Given the description of an element on the screen output the (x, y) to click on. 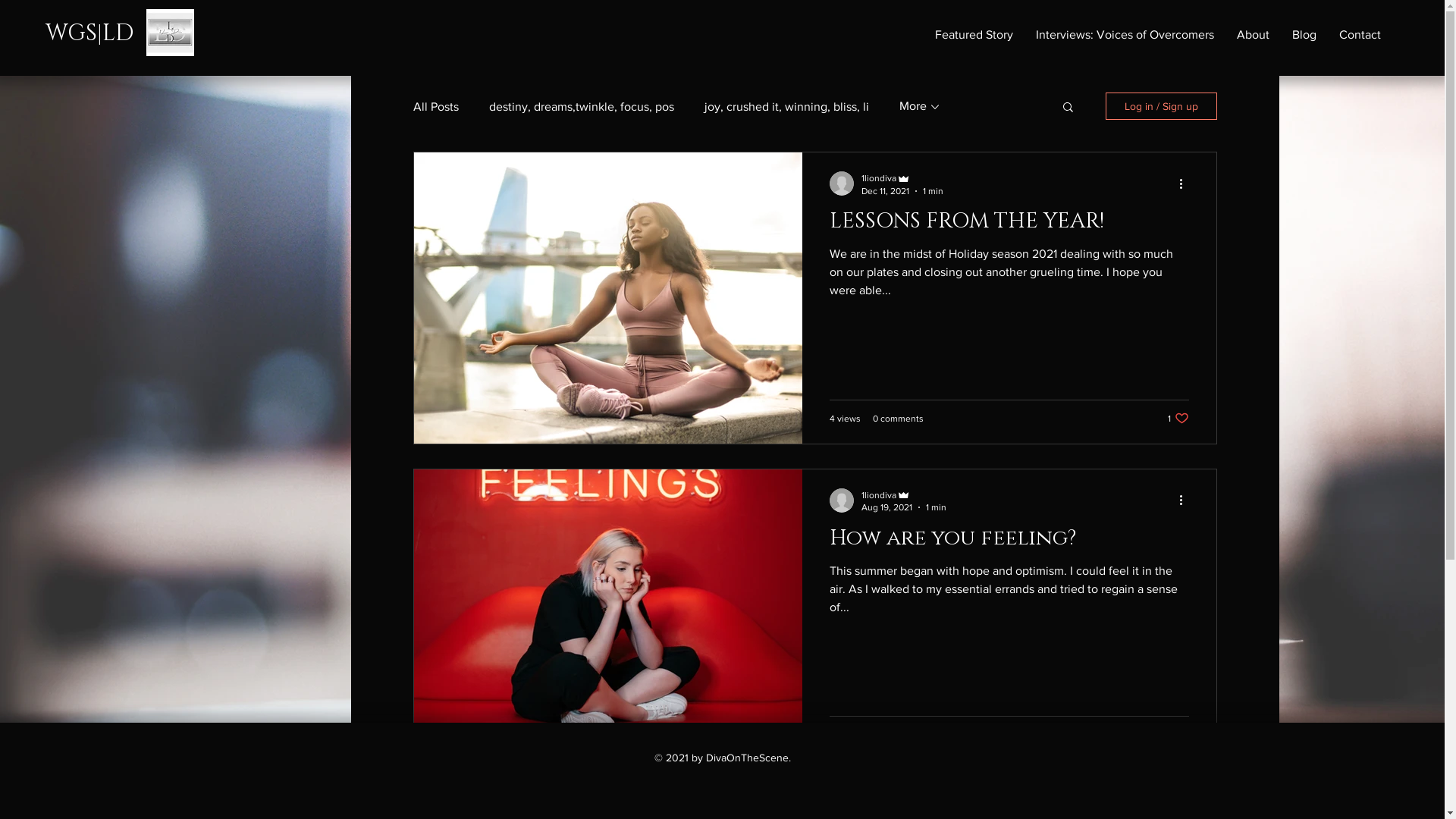
About Element type: text (1252, 34)
Featured Story Element type: text (973, 34)
0 comments Element type: text (897, 734)
destiny, dreams,twinkle, focus, pos Element type: text (580, 106)
Interviews: Voices of Overcomers Element type: text (1124, 34)
All Posts Element type: text (435, 106)
Log in / Sign up Element type: text (1161, 105)
How are you feeling? Element type: text (1009, 541)
0 comments Element type: text (897, 417)
Blog Element type: text (1303, 34)
Post not marked as liked Element type: text (1180, 734)
WGS|LD Element type: text (89, 33)
LESSONS FROM THE YEAR! Element type: text (1009, 224)
1 like. Post not marked as liked
1 Element type: text (1178, 418)
Contact Element type: text (1359, 34)
joy, crushed it, winning, bliss, li Element type: text (785, 106)
